Given the description of an element on the screen output the (x, y) to click on. 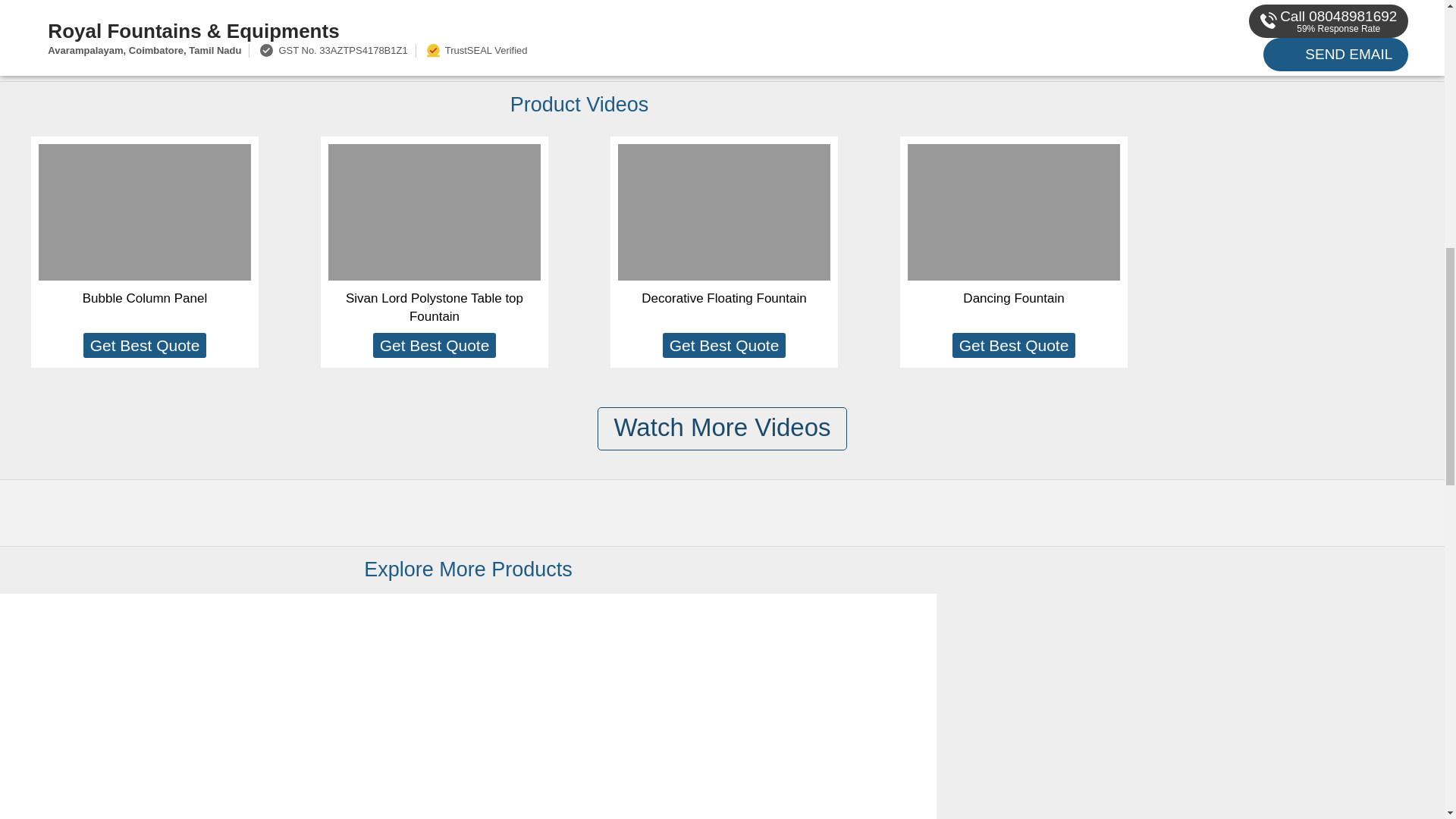
Sivan Lord Polystone Table top Fountain (108, 728)
Sivan Lord Polystone Table top Fountain (434, 307)
Dancing Fountain (1013, 298)
Bubble Column Panel (144, 298)
Decorative Floating Fountain (724, 298)
Watch More Videos (720, 428)
